Given the description of an element on the screen output the (x, y) to click on. 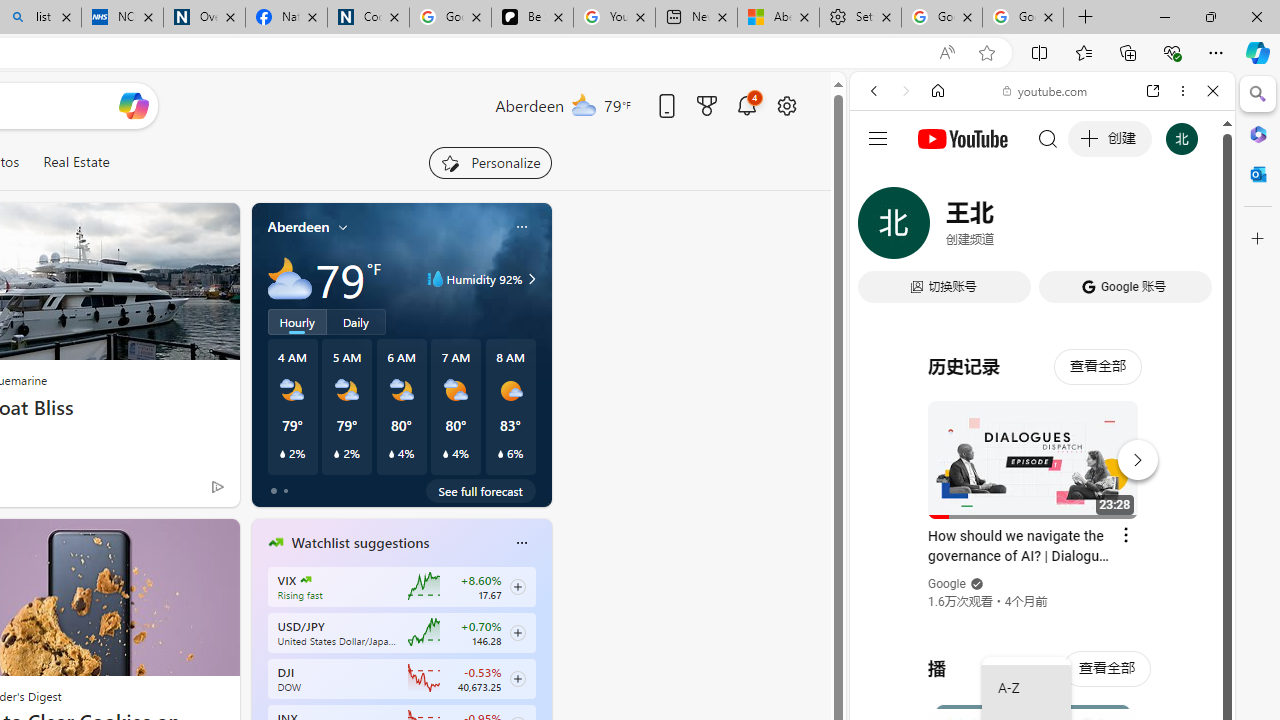
Class: follow-button  m (517, 678)
#you (1042, 445)
Hide this story (178, 542)
